Given the description of an element on the screen output the (x, y) to click on. 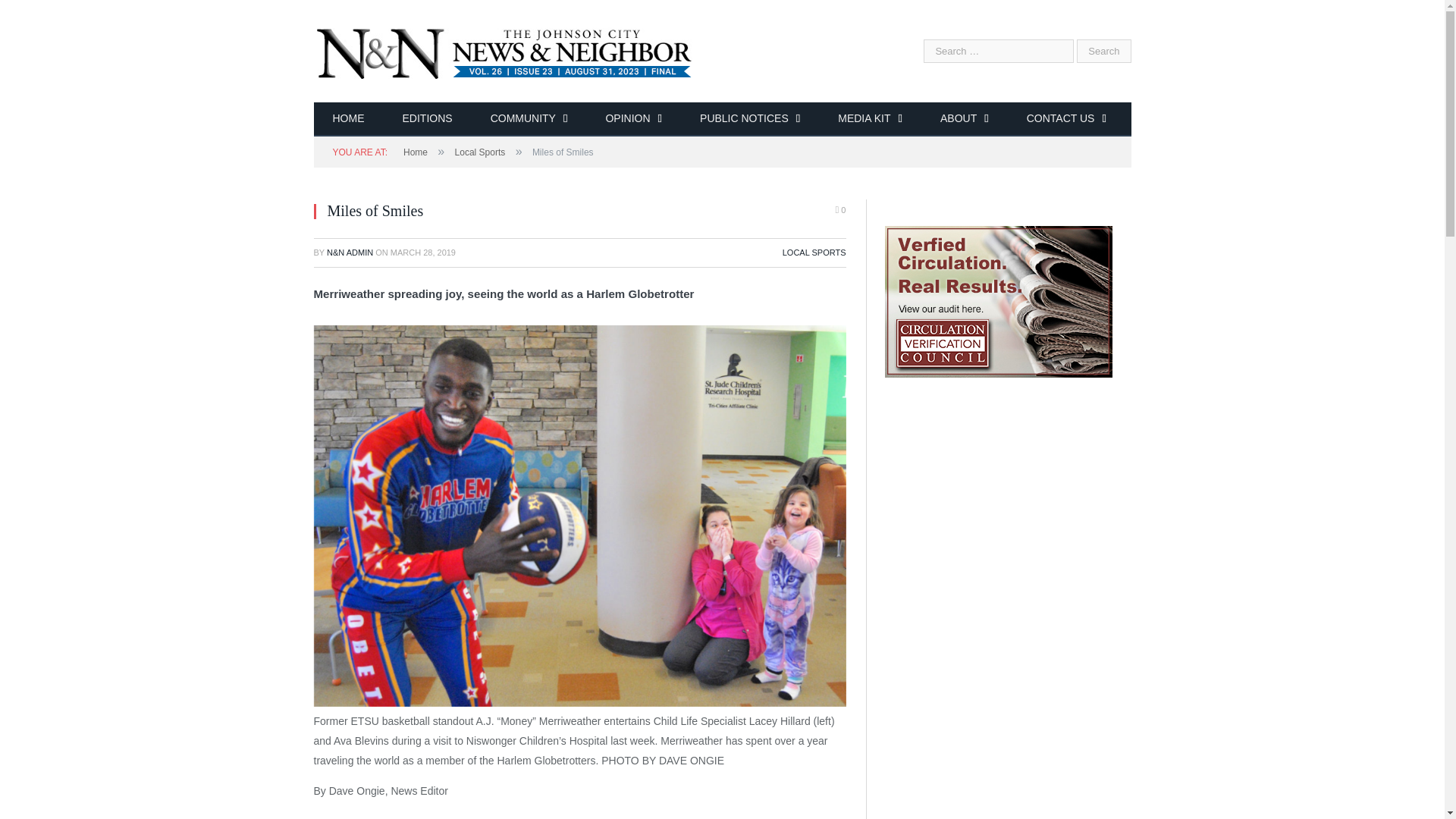
CONTACT US (1066, 119)
ABOUT (964, 119)
LOCAL SPORTS (814, 252)
2019-03-28 (422, 252)
PUBLIC NOTICES (749, 119)
Local Sports (479, 152)
HOME (349, 119)
Search (1104, 51)
Search (1104, 51)
COMMUNITY (528, 119)
